Given the description of an element on the screen output the (x, y) to click on. 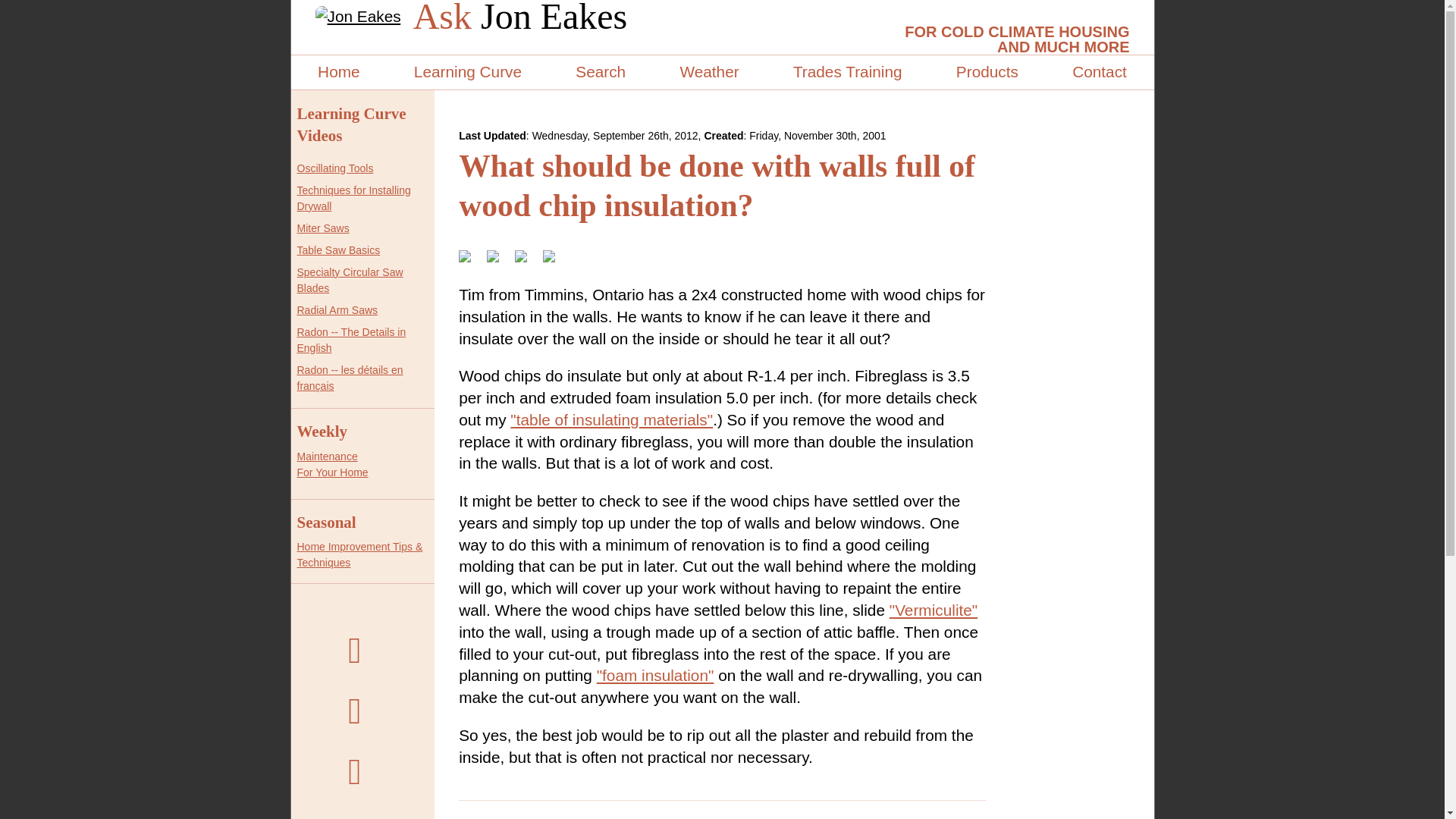
Home (338, 72)
"table of insulating materials" (612, 419)
"Vermiculite" (932, 610)
Seasonal (326, 522)
Weather (708, 72)
Search (600, 72)
Contact (1098, 72)
Learning Curve (467, 72)
Ask Jon Eakes (520, 16)
Trades Training (847, 72)
